Given the description of an element on the screen output the (x, y) to click on. 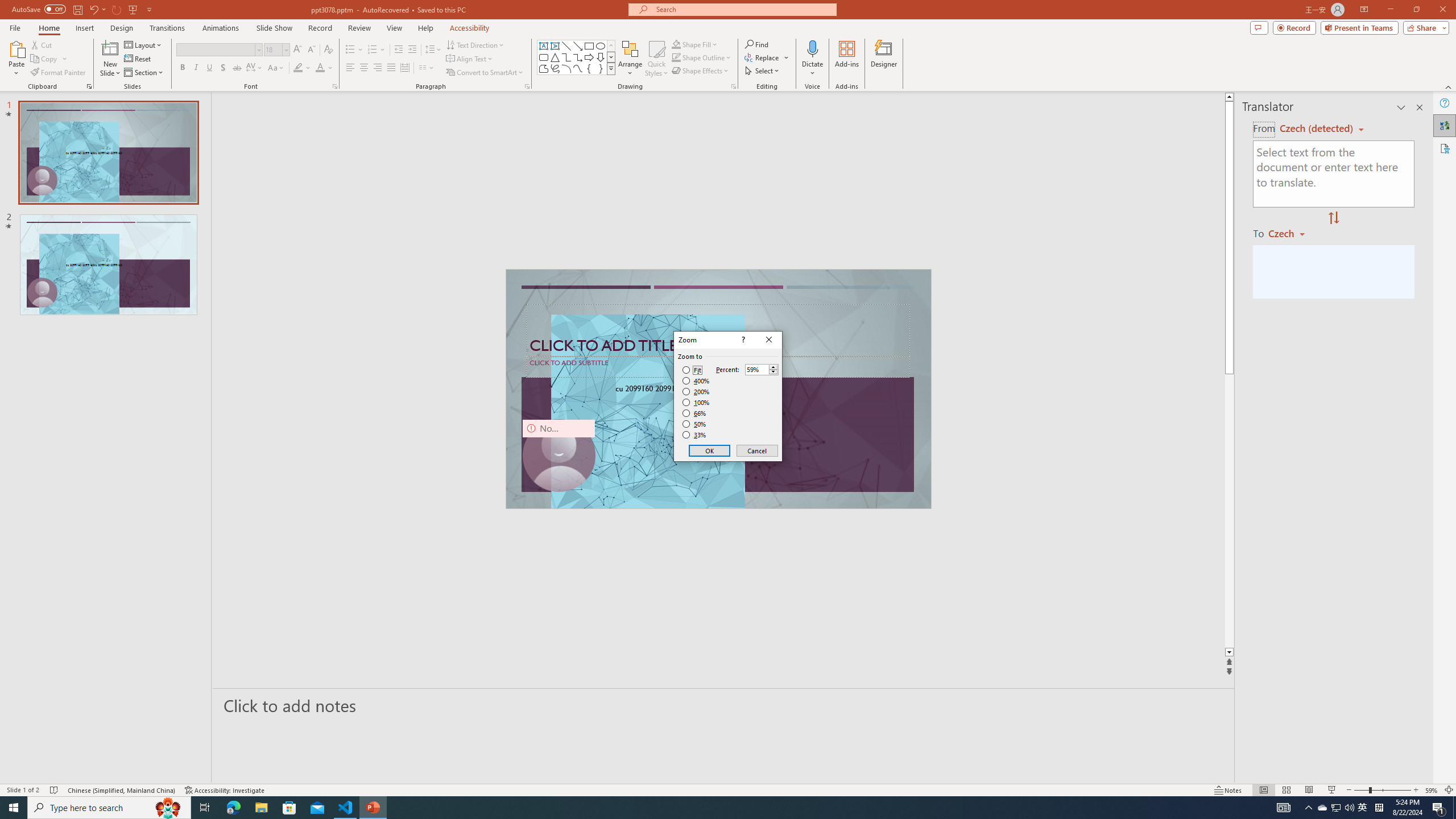
66% (694, 412)
